Given the description of an element on the screen output the (x, y) to click on. 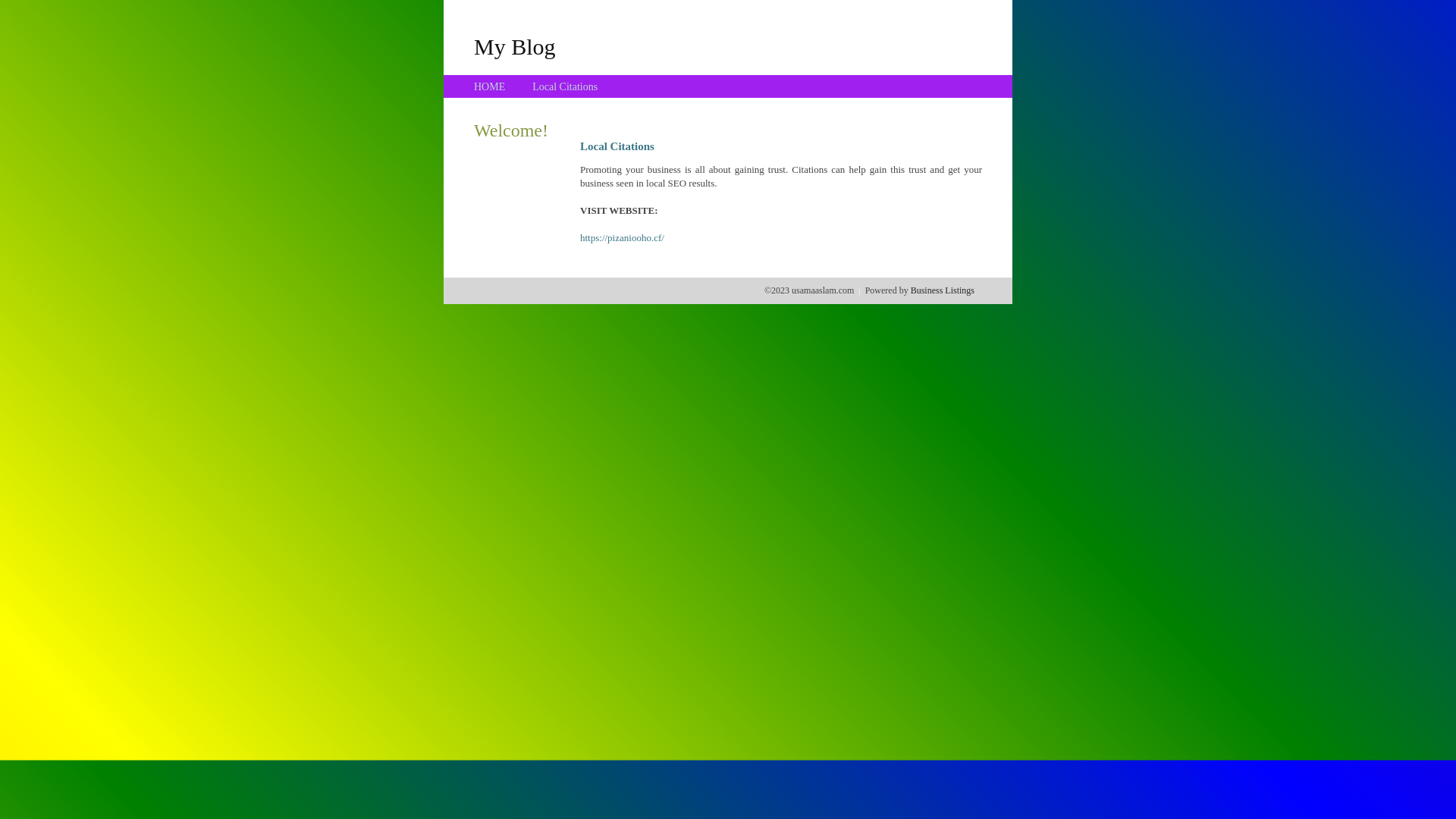
Local Citations Element type: text (564, 86)
https://pizaniooho.cf/ Element type: text (622, 237)
My Blog Element type: text (514, 46)
Business Listings Element type: text (942, 290)
HOME Element type: text (489, 86)
